Given the description of an element on the screen output the (x, y) to click on. 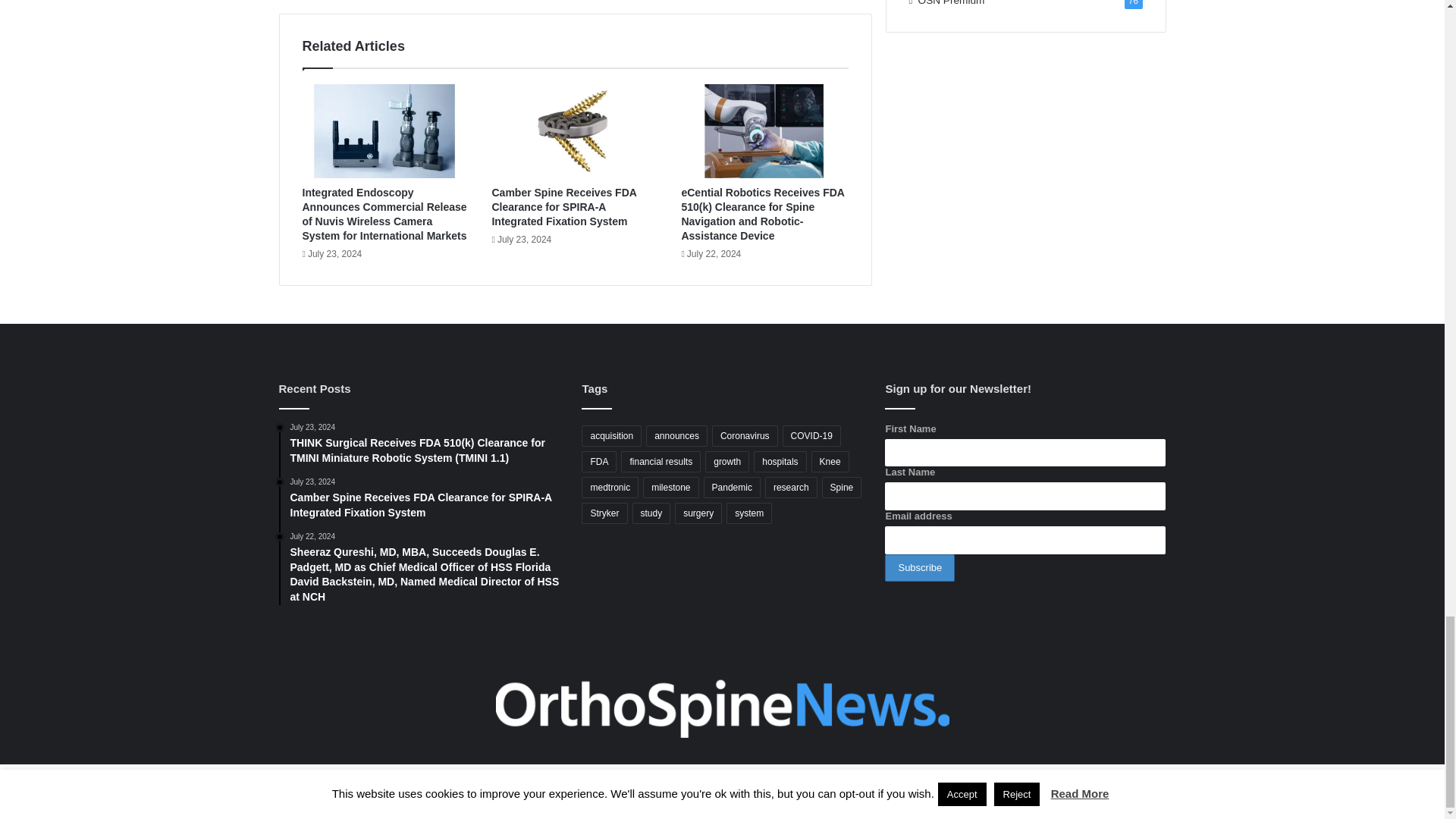
Subscribe (920, 568)
